Given the description of an element on the screen output the (x, y) to click on. 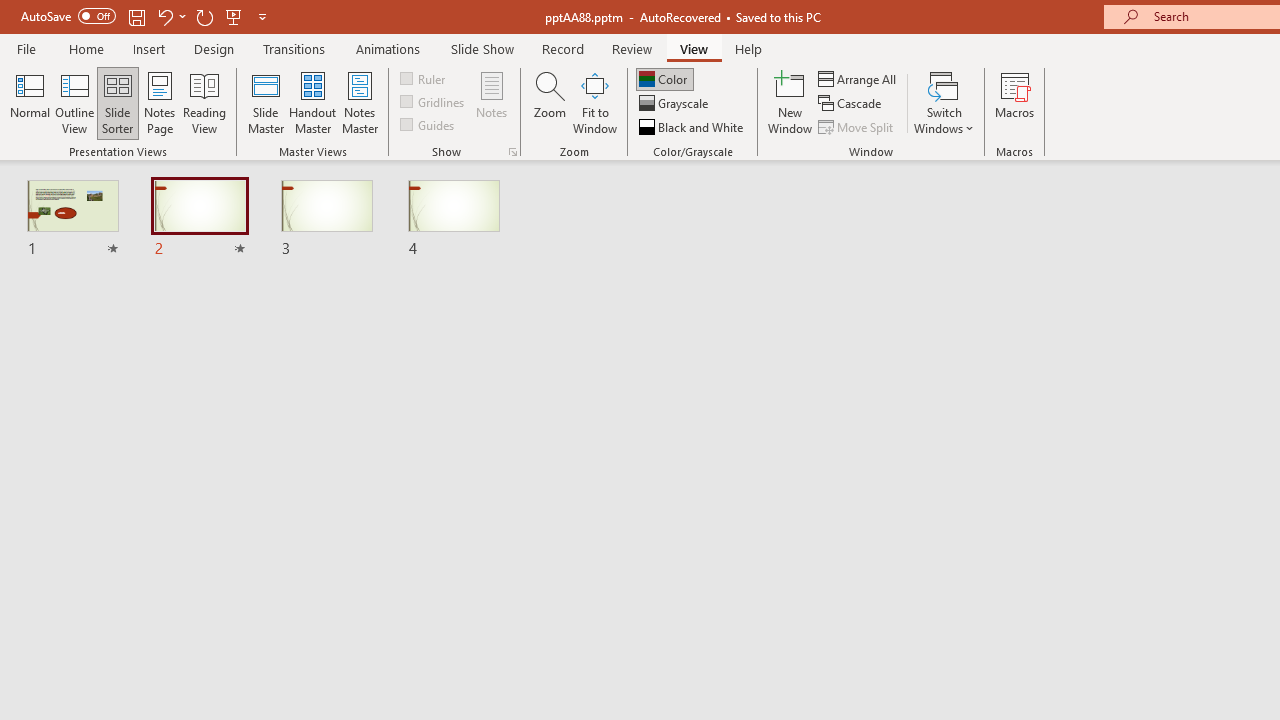
Fit to Window (594, 102)
Ruler (423, 78)
Outline View (74, 102)
Notes Master (360, 102)
Guides (428, 124)
